Given the description of an element on the screen output the (x, y) to click on. 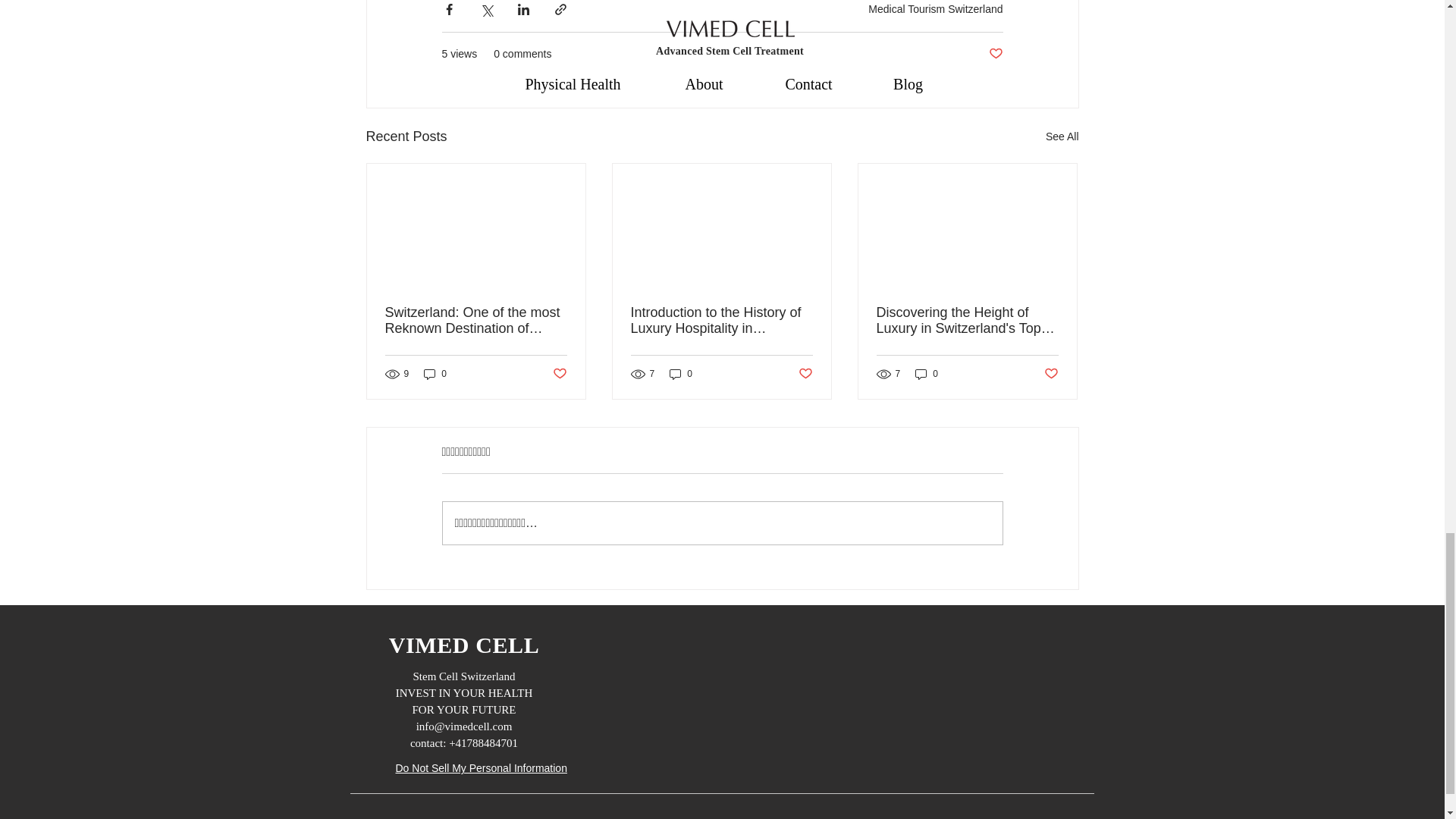
See All (1061, 137)
Post not marked as liked (995, 53)
Medical Tourism Switzerland (935, 9)
